Given the description of an element on the screen output the (x, y) to click on. 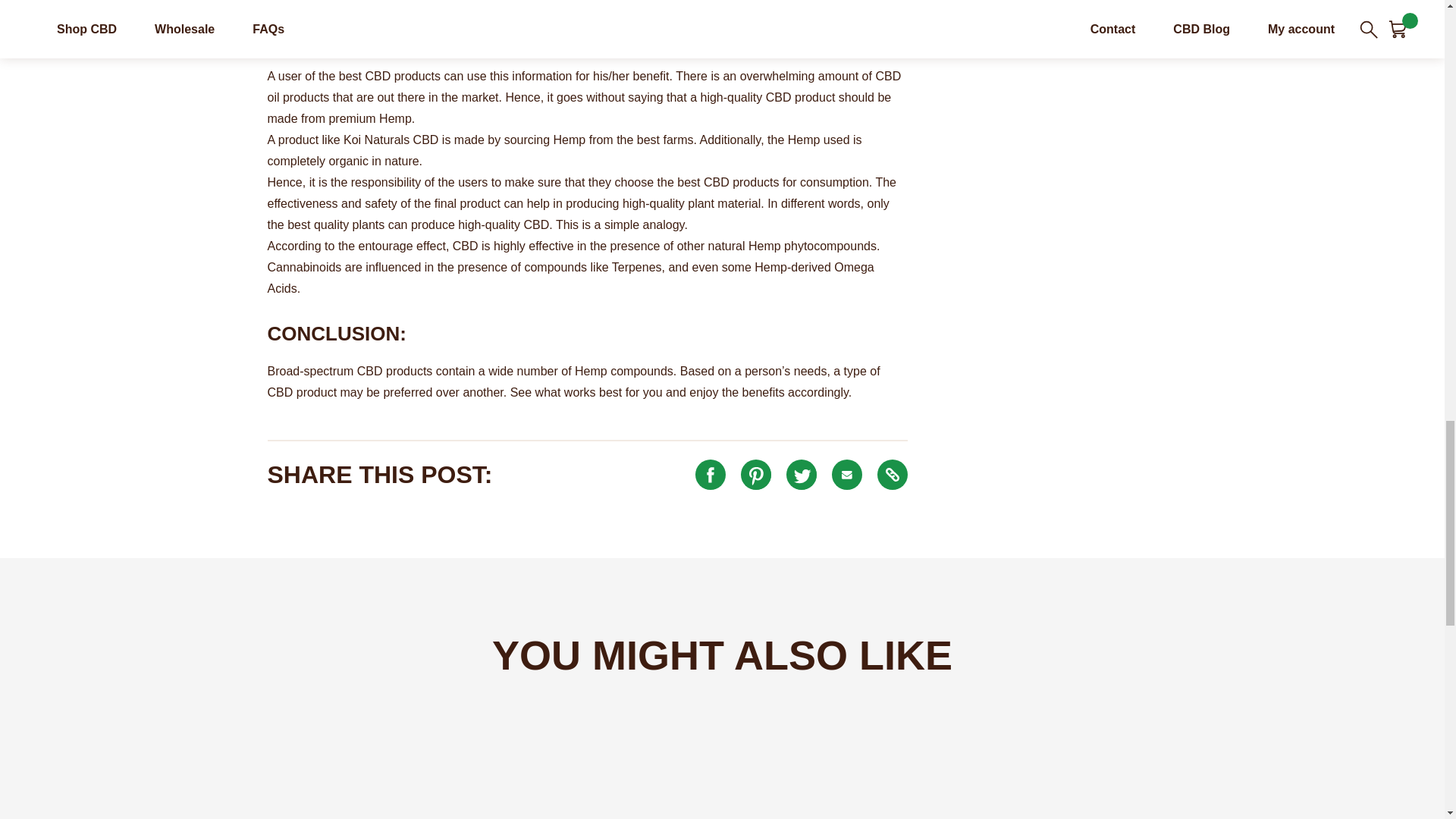
Share this post on Facebook (710, 474)
Share this post via Email (846, 474)
Pin this post on Pinterest (756, 474)
Copy this post to your clipboard (892, 474)
Share this post on Twitter (801, 474)
